Given the description of an element on the screen output the (x, y) to click on. 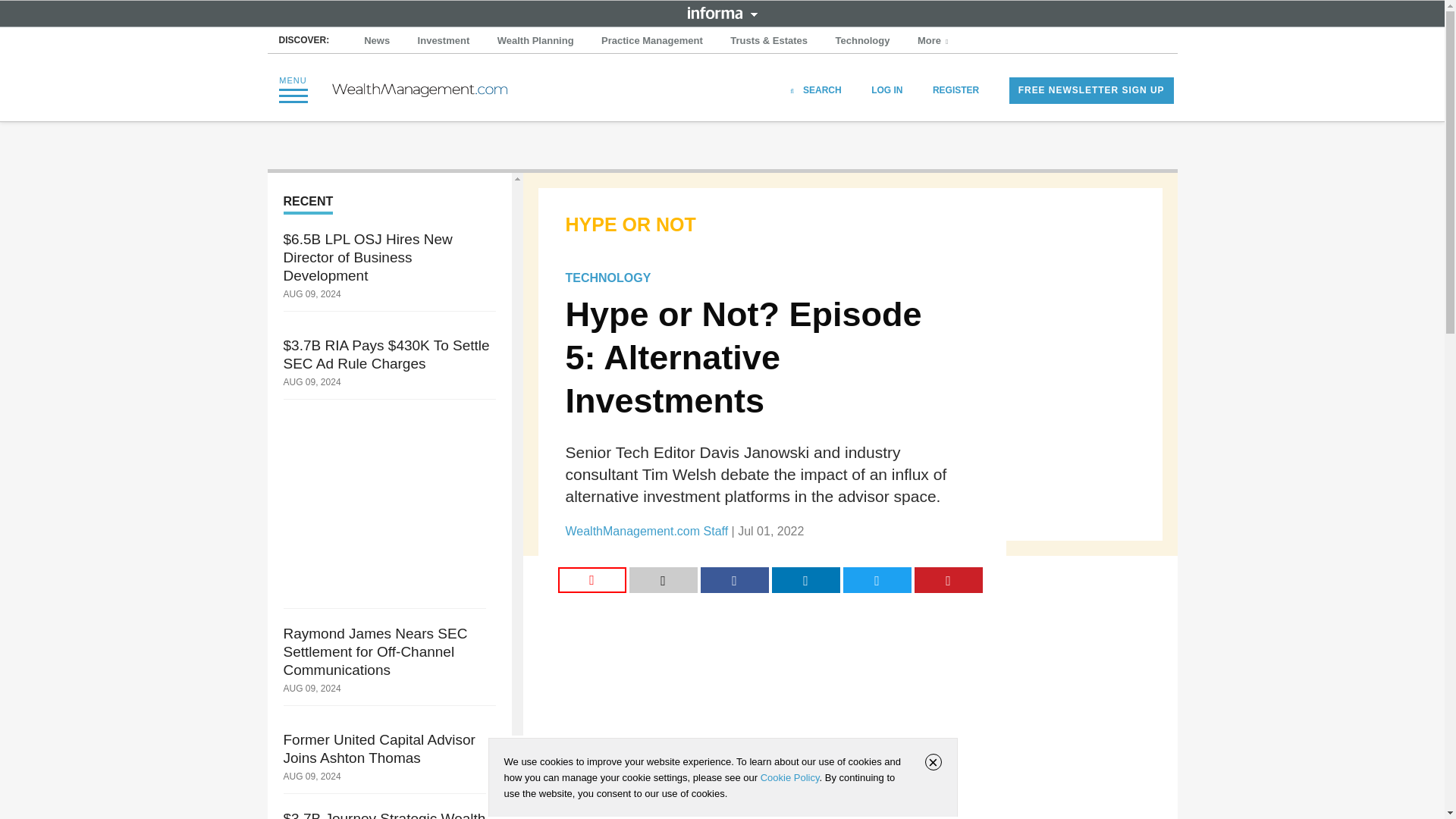
More (934, 41)
Investment (444, 41)
News (377, 41)
INFORMA (722, 12)
Practice Management (652, 41)
Wealth Planning (535, 41)
Cookie Policy (789, 777)
Technology (862, 41)
